Given the description of an element on the screen output the (x, y) to click on. 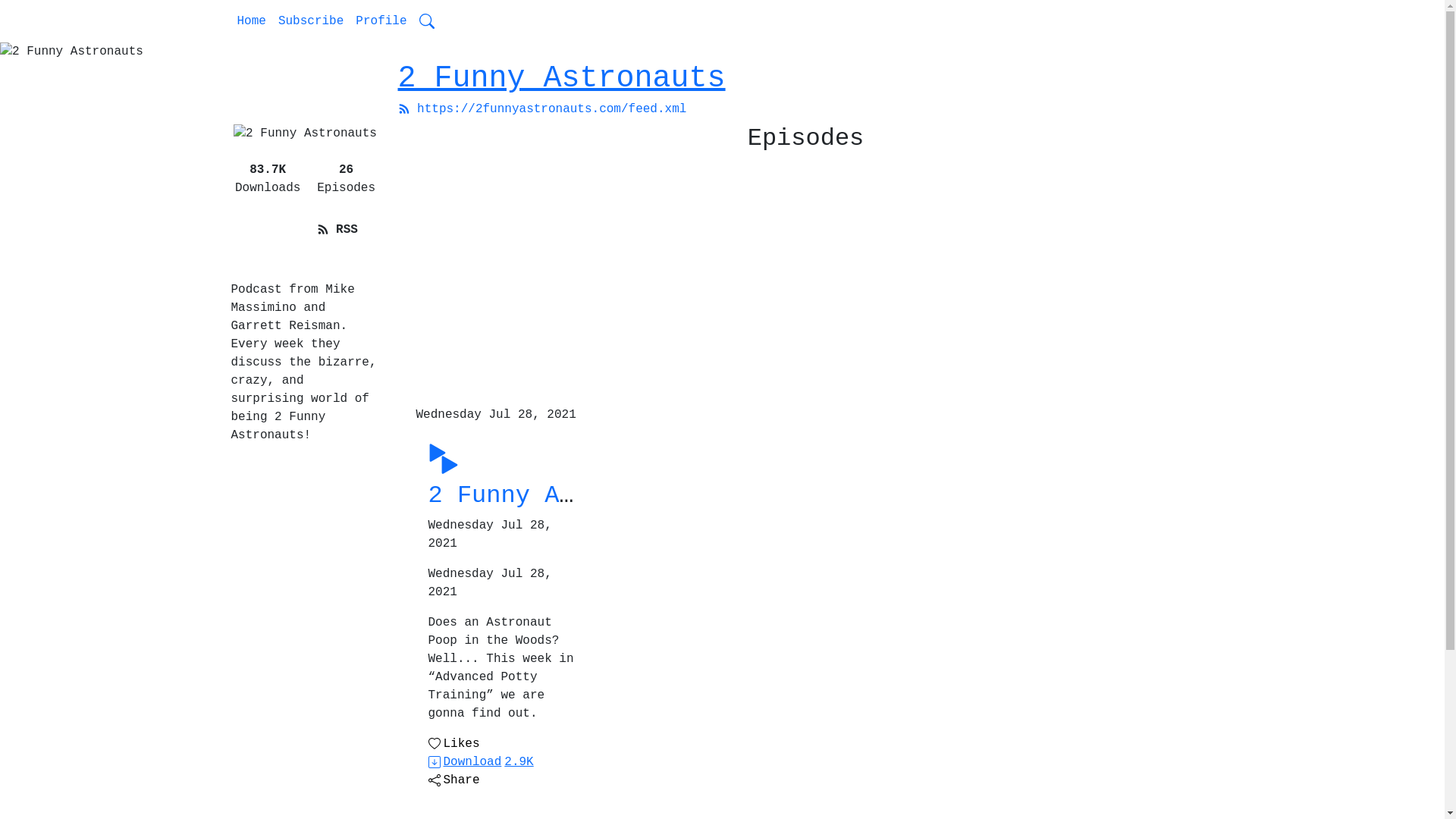
Profile Element type: text (380, 21)
Share Element type: text (266, 238)
Likes Element type: text (453, 743)
2 Funny Astronauts Element type: text (560, 78)
2 Funny Astronauts - Episode 11 - Advanced Potty Training Element type: text (842, 495)
Share Element type: text (453, 780)
RSS Element type: text (336, 229)
https://2funnyastronauts.com/feed.xml Element type: text (541, 109)
Search Element type: hover (426, 21)
Download
2.9K Element type: text (480, 762)
Subscribe Element type: text (310, 21)
Home Element type: text (250, 21)
